Given the description of an element on the screen output the (x, y) to click on. 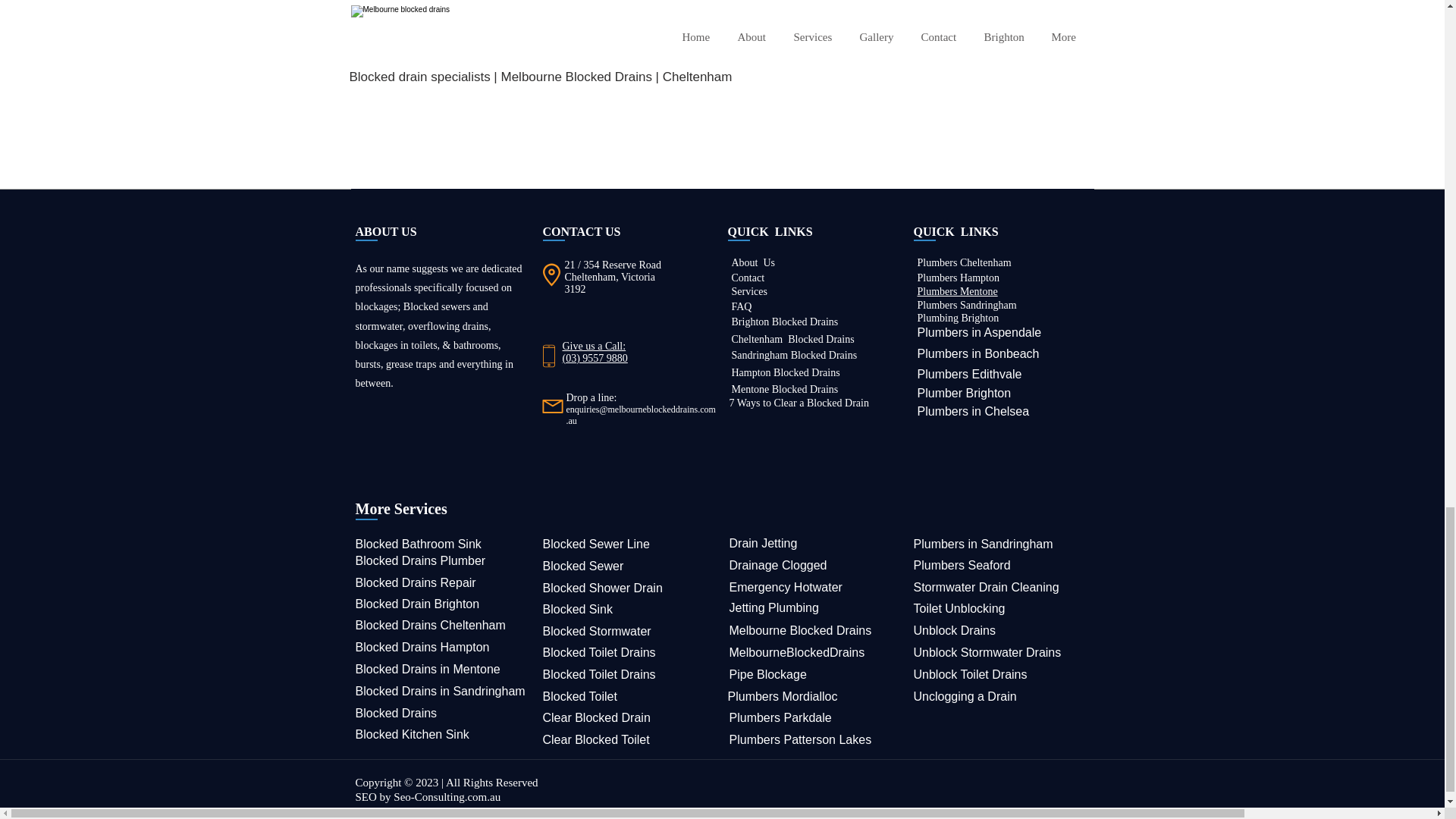
Contact (747, 277)
slide3.jpg (680, 60)
Blocked Drains (803, 389)
Blocked Drains (805, 372)
Brighton Blocked Drains (784, 321)
FAQ (740, 306)
Blocked Drains (820, 338)
Mentone (749, 389)
Blocked Drains (822, 355)
About  Us (752, 262)
Hampton (750, 372)
Sandringham (758, 355)
Services (748, 291)
Cheltenham  (757, 338)
